Given the description of an element on the screen output the (x, y) to click on. 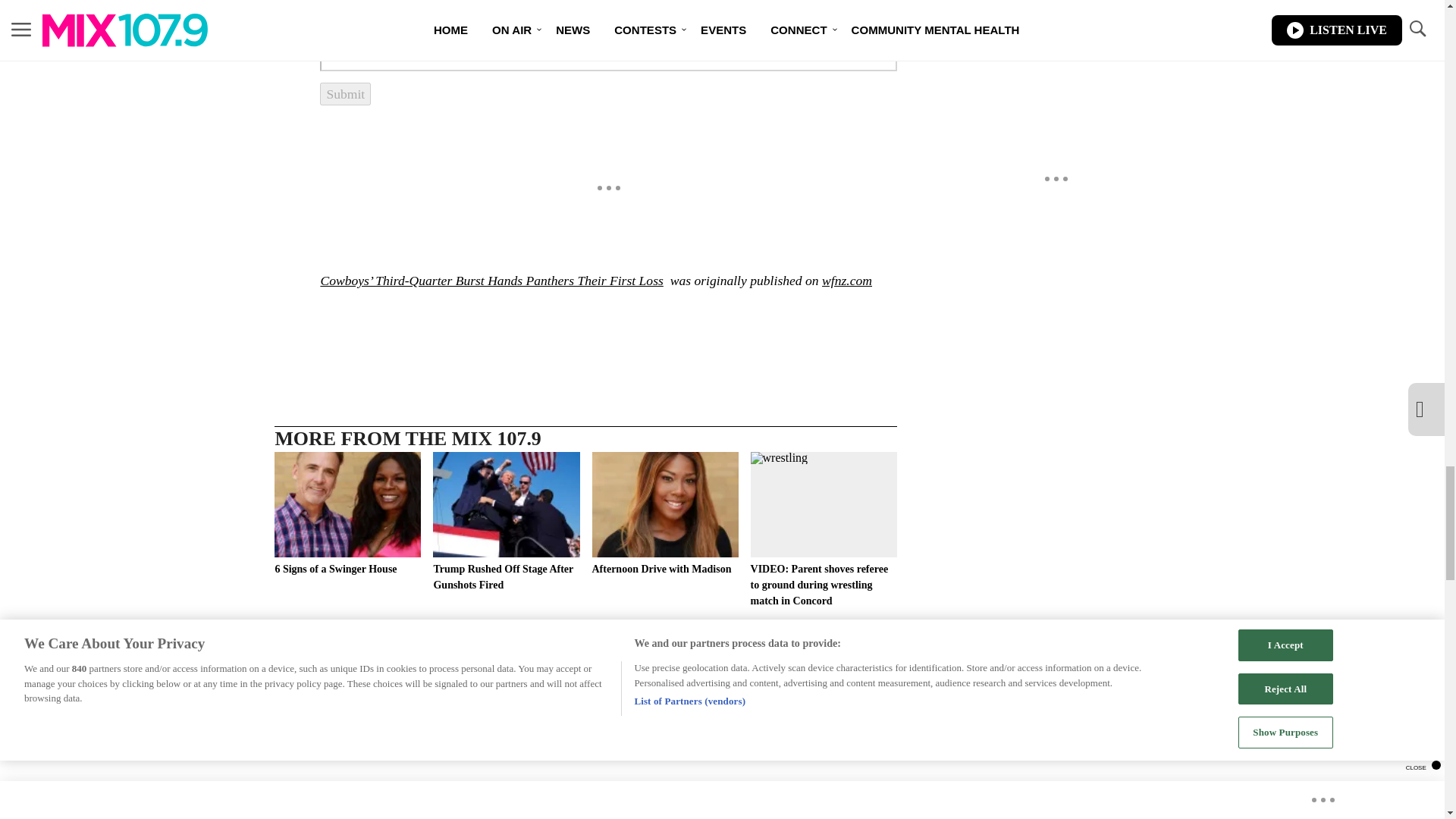
Vuukle Sharebar Widget (585, 326)
